Given the description of an element on the screen output the (x, y) to click on. 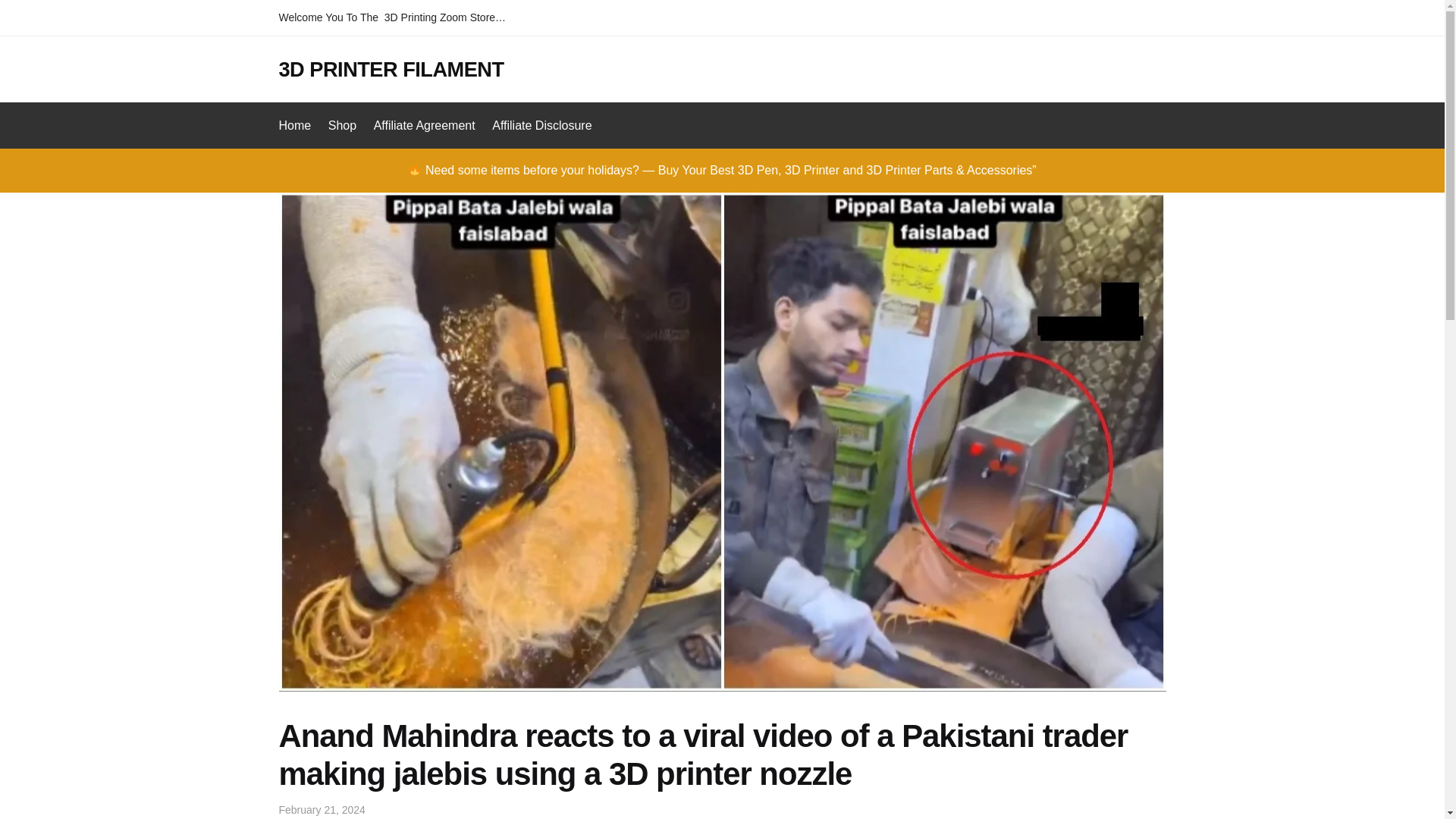
Shop (341, 125)
Affiliate Disclosure (541, 125)
Affiliate Agreement (423, 125)
3D PRINTER FILAMENT (391, 69)
